Given the description of an element on the screen output the (x, y) to click on. 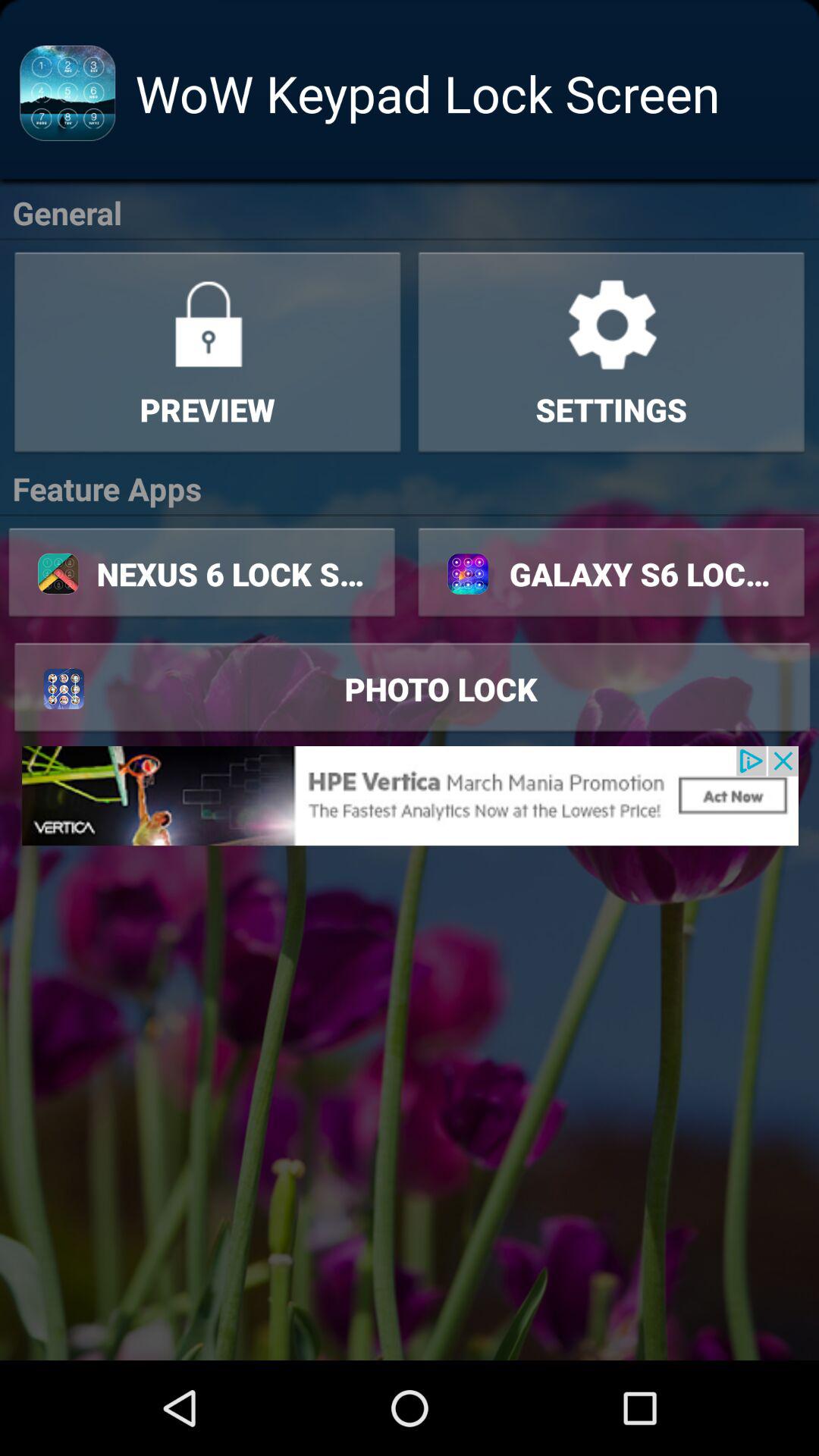
go to advertisement link (409, 795)
